Given the description of an element on the screen output the (x, y) to click on. 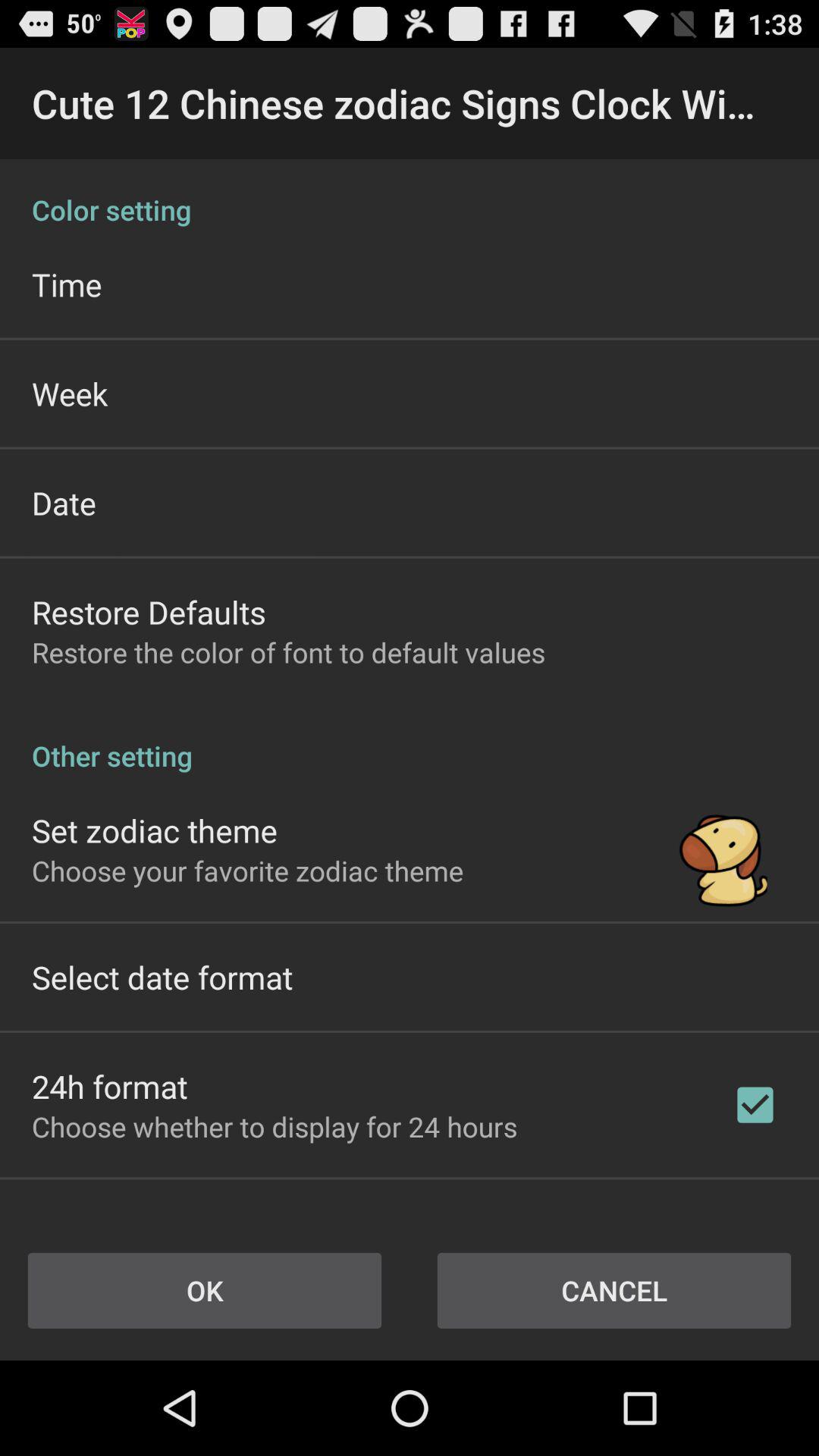
press the ok item (204, 1290)
